Given the description of an element on the screen output the (x, y) to click on. 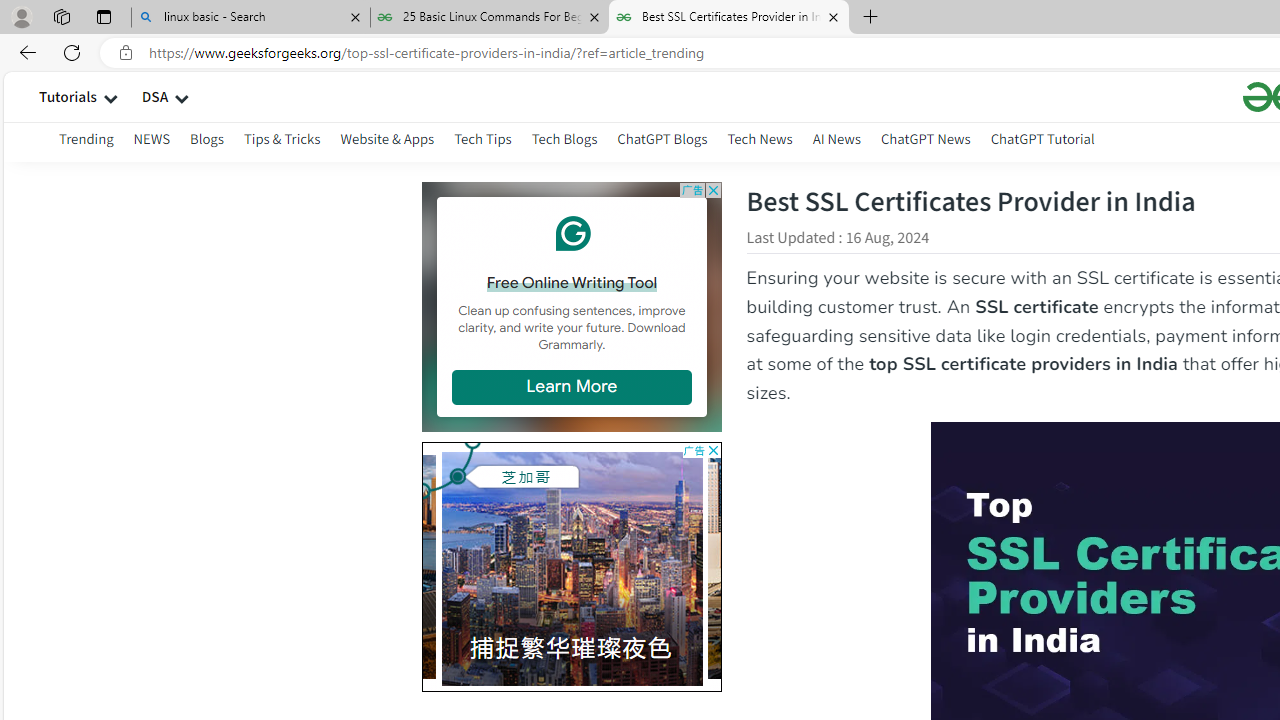
ChatGPT Blogs (662, 138)
ChatGPT Blogs (662, 142)
Trending (86, 138)
Free Online Writing Tool (571, 282)
Trending (76, 142)
AutomationID: brandFlyLogo (572, 457)
Blogs (207, 142)
Tech Tips (483, 138)
AutomationID: gradient4 (856, 566)
AutomationID: gradient3 (571, 564)
ChatGPT Tutorial (1042, 142)
Tech Blogs (564, 142)
AutomationID: cbb (712, 449)
